Given the description of an element on the screen output the (x, y) to click on. 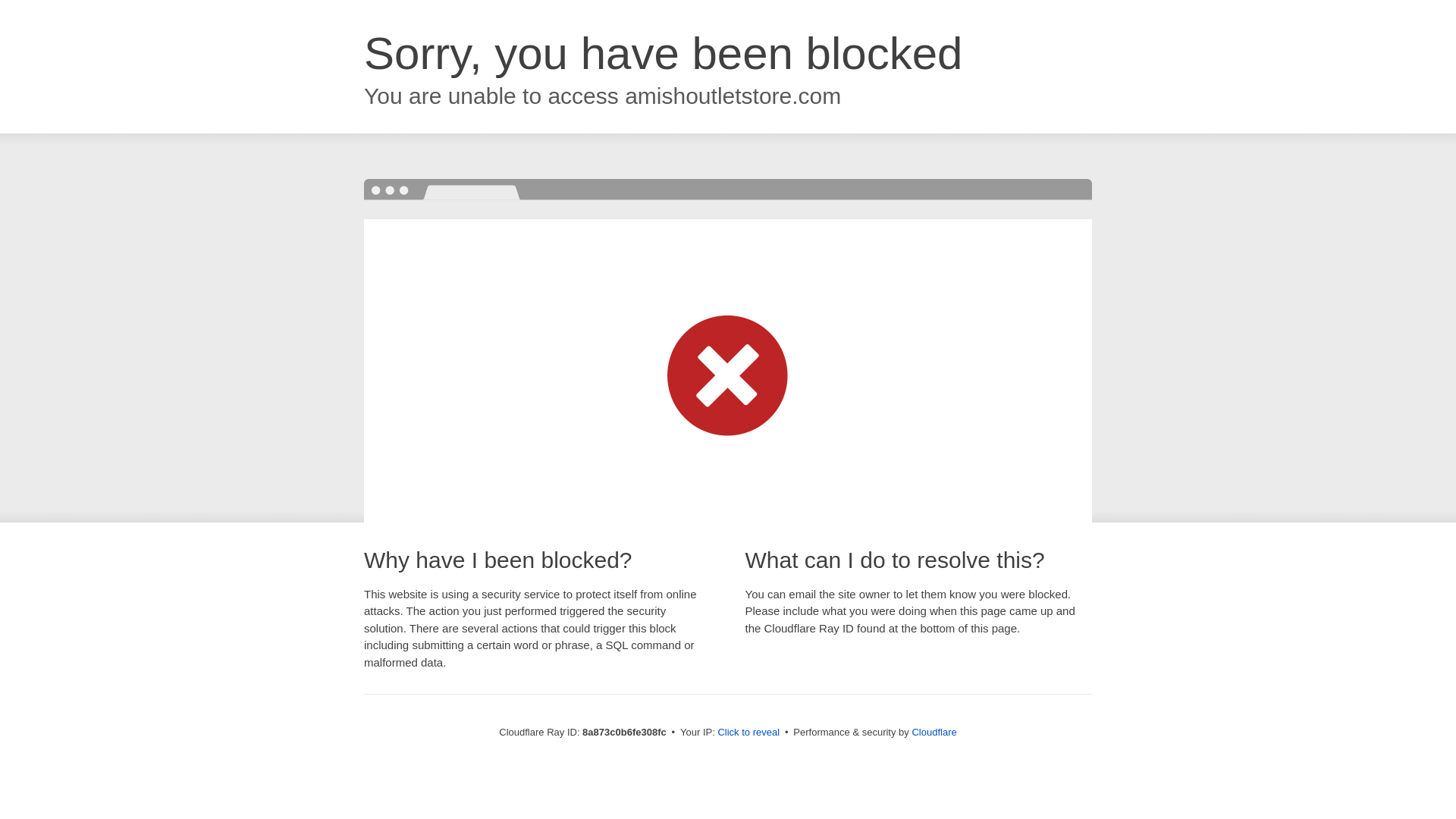
Click to reveal (747, 732)
Cloudflare (933, 731)
